Given the description of an element on the screen output the (x, y) to click on. 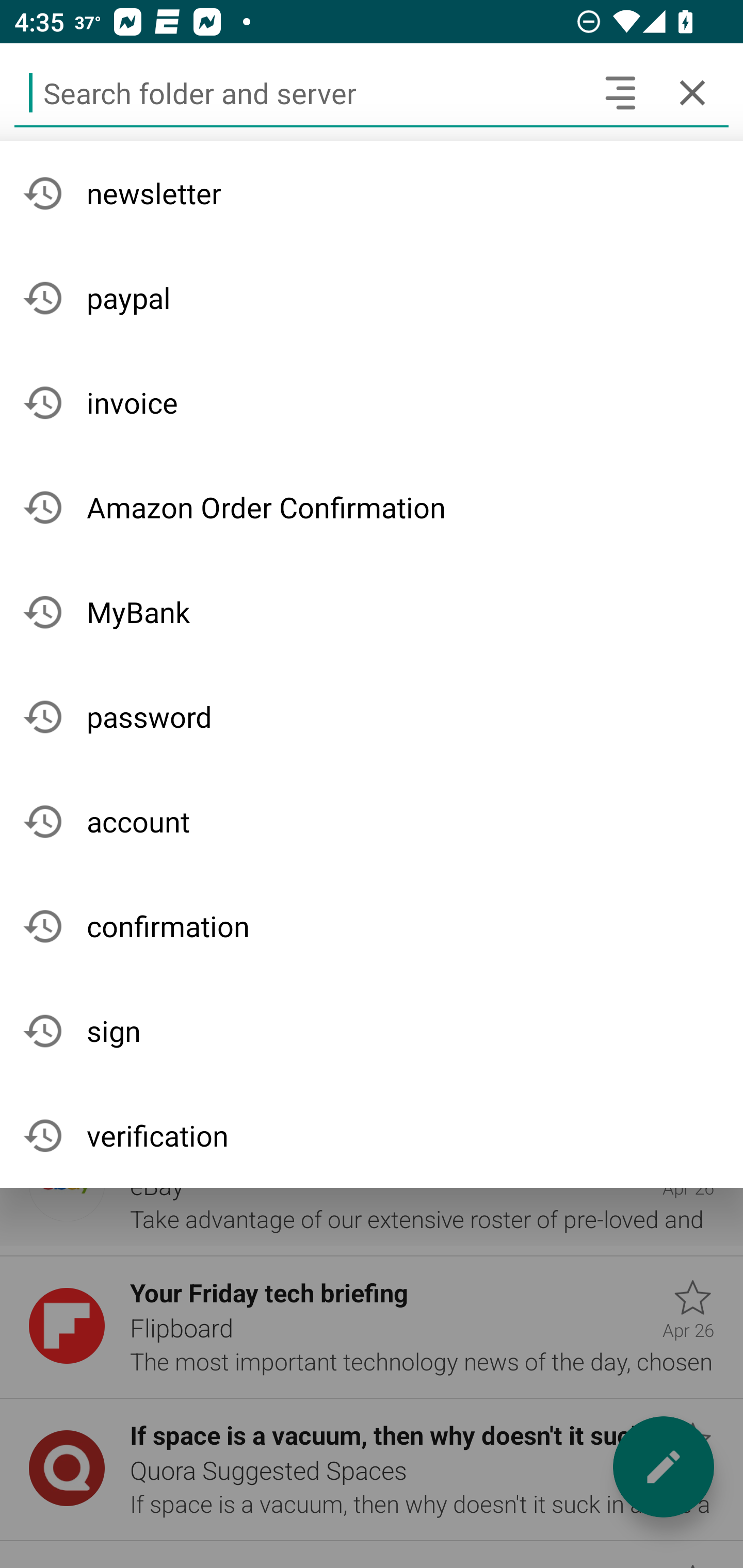
   Search folder and server (298, 92)
Search headers and text (619, 92)
Cancel (692, 92)
